Given the description of an element on the screen output the (x, y) to click on. 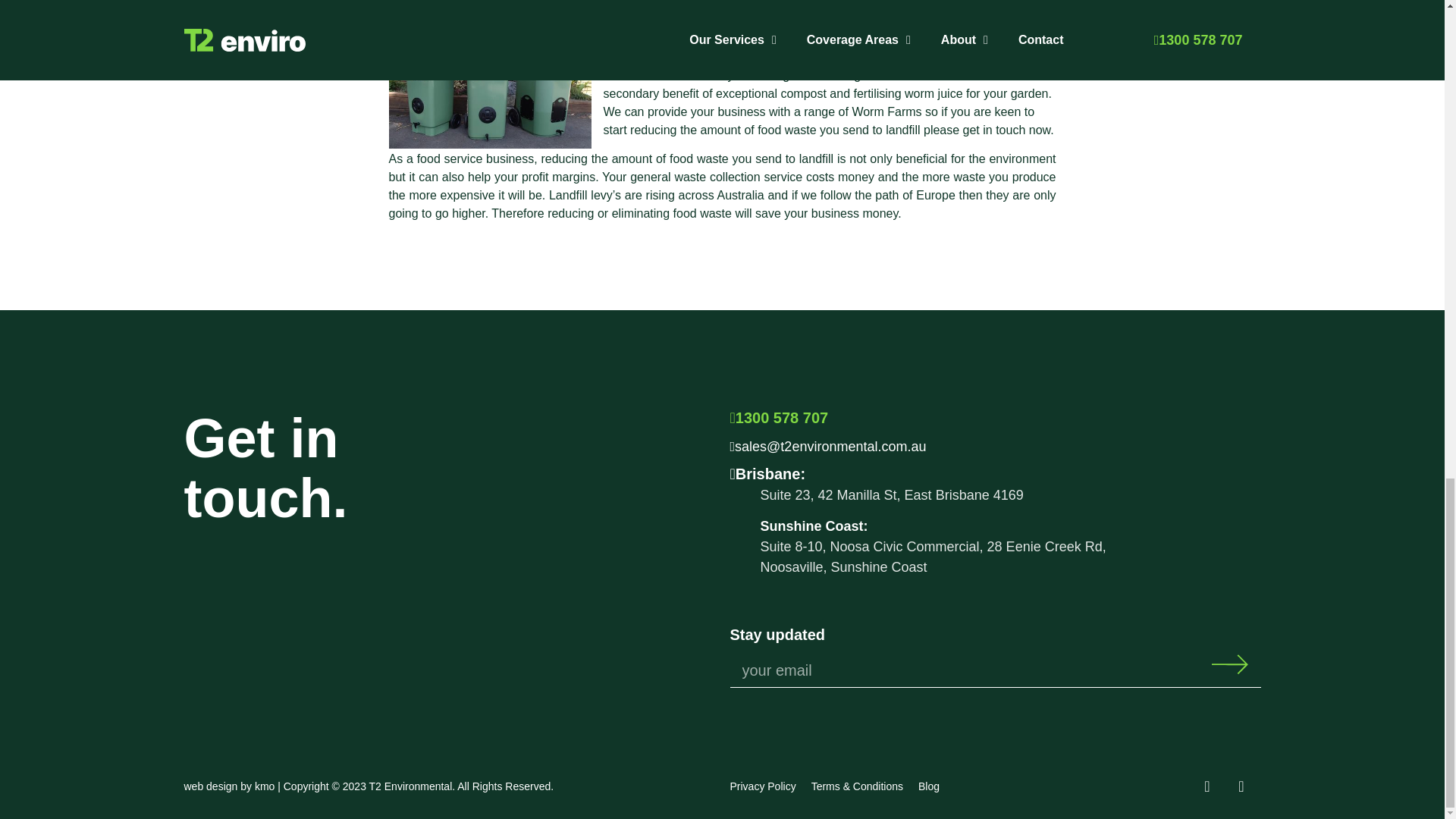
Page 1 (1010, 531)
